Given the description of an element on the screen output the (x, y) to click on. 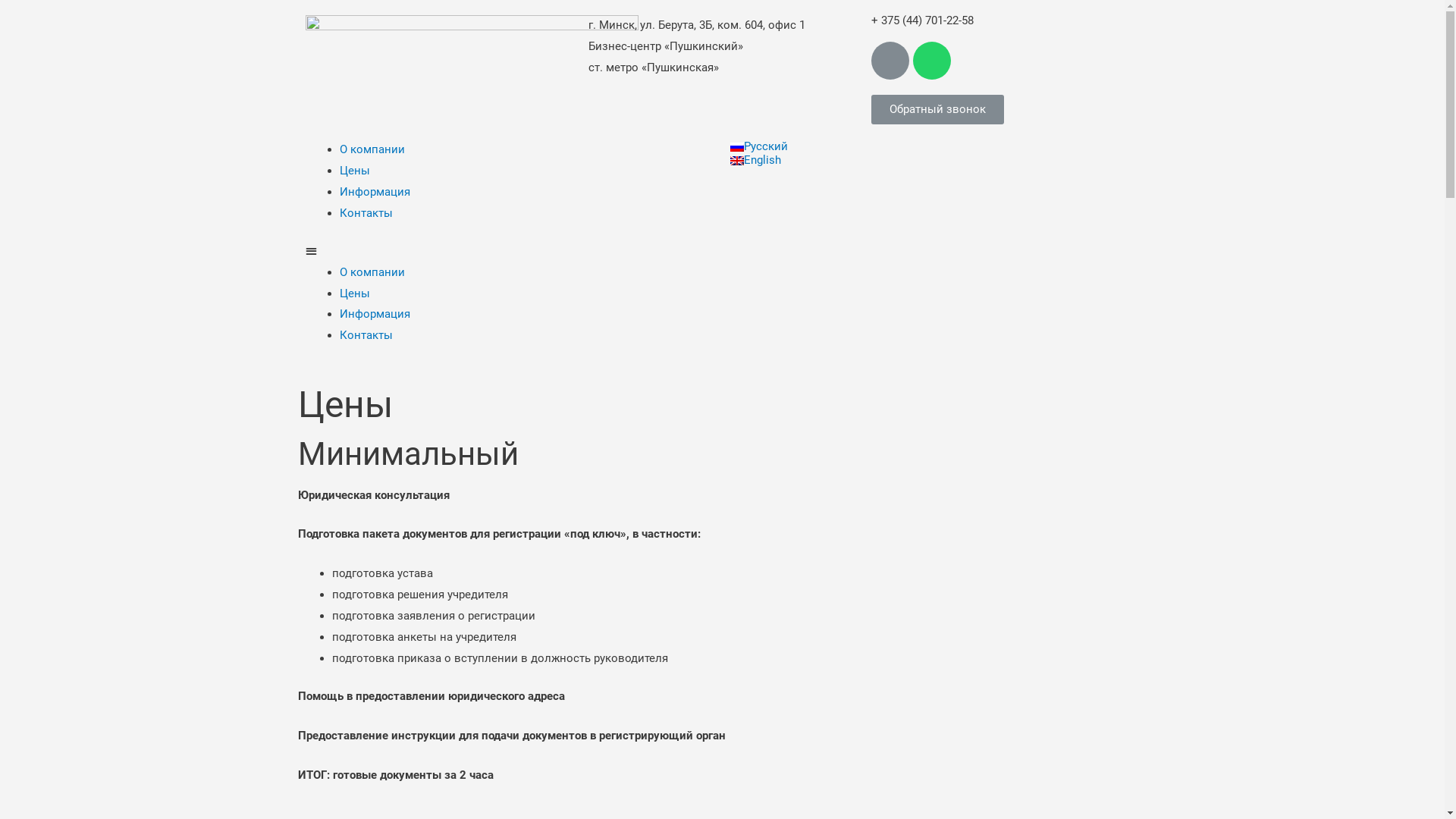
English Element type: text (934, 159)
